Given the description of an element on the screen output the (x, y) to click on. 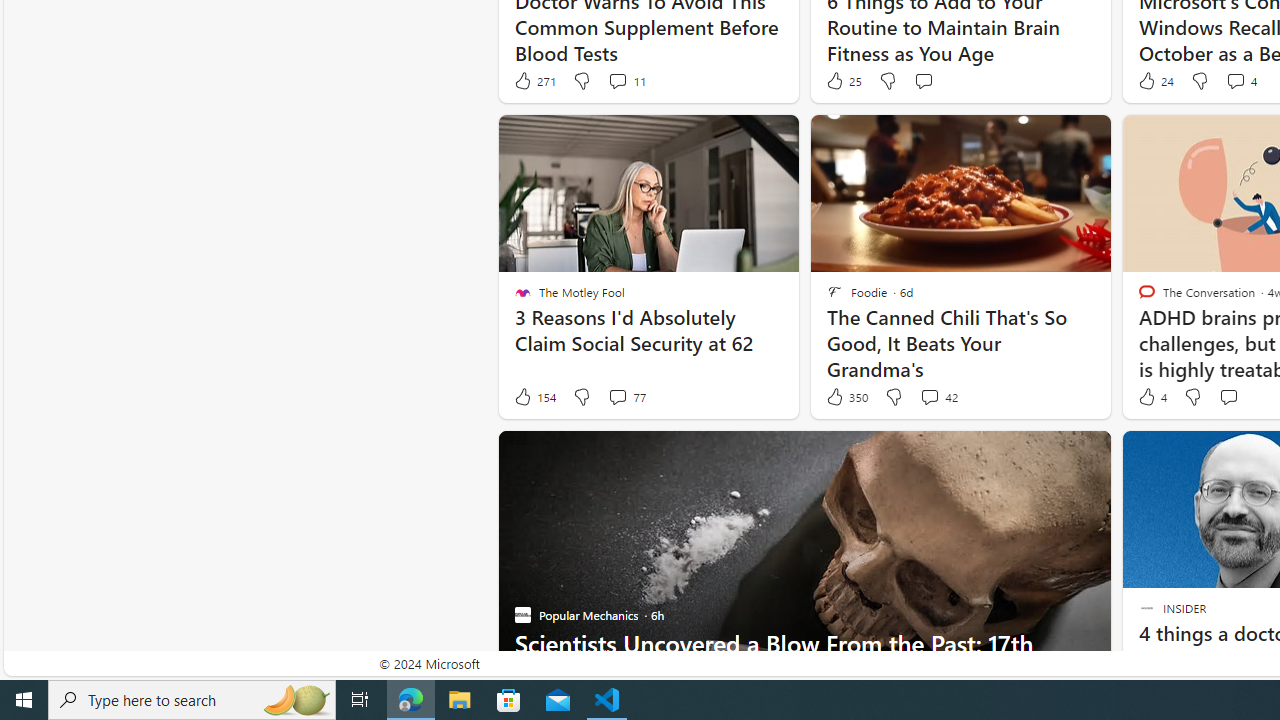
View comments 4 Comment (1234, 80)
271 Like (534, 80)
View comments 4 Comment (1240, 80)
View comments 11 Comment (617, 80)
4 Like (1151, 397)
Hide this story (1169, 454)
Start the conversation (1227, 397)
View comments 77 Comment (617, 396)
View comments 77 Comment (626, 397)
View comments 42 Comment (938, 397)
350 Like (845, 397)
154 Like (534, 397)
